Given the description of an element on the screen output the (x, y) to click on. 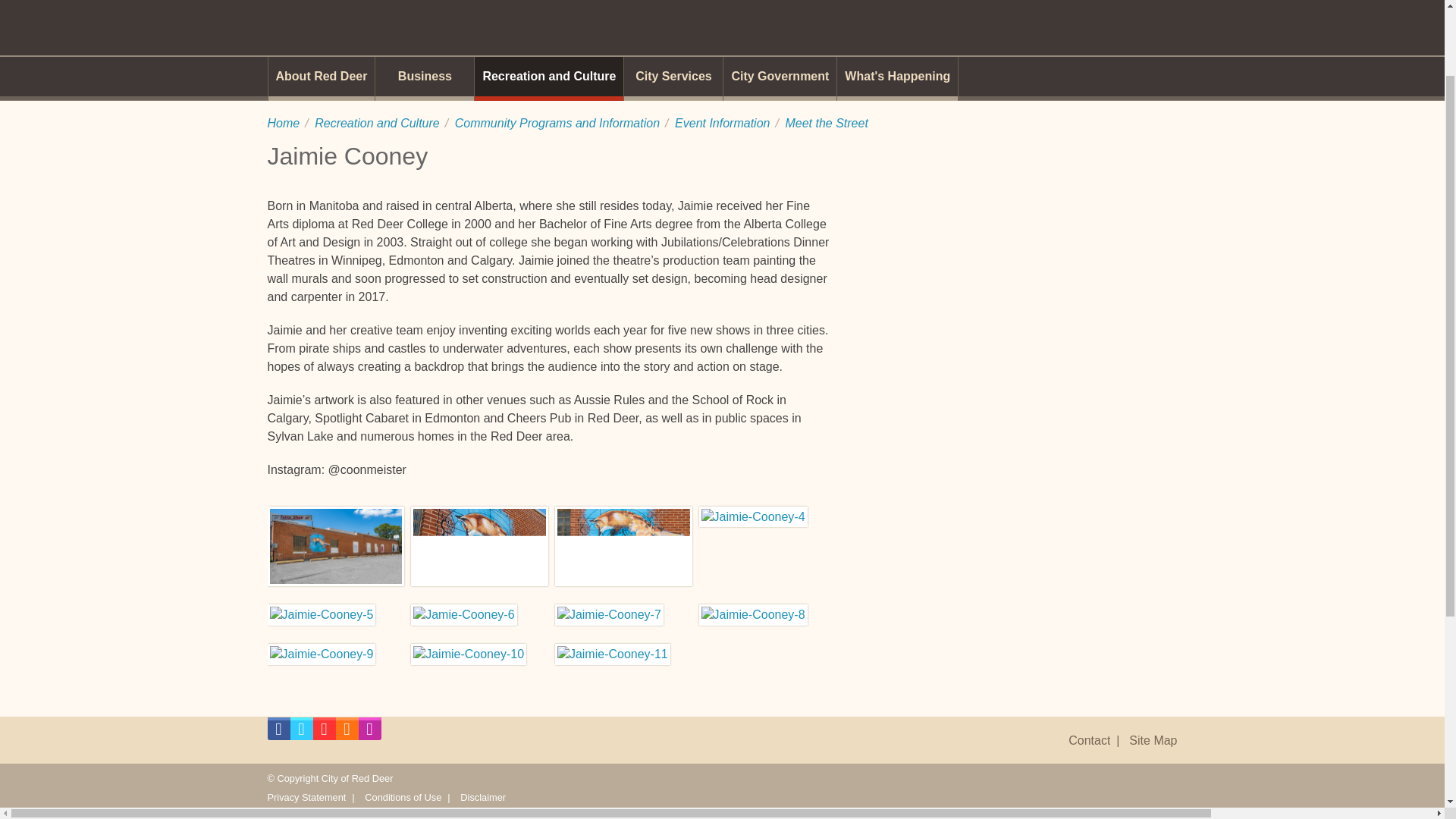
Open City of Red Deer Instagram (369, 732)
Home (282, 123)
Disclaimer (482, 797)
Open City of Red Deer RSS Feeds (346, 732)
Event Information (722, 123)
Open City of Red Deer Twitter Feed (301, 732)
About Red Deer (321, 78)
Open City of Red Deer Facebook Page (277, 732)
Business (424, 78)
Site Map (1152, 740)
